Given the description of an element on the screen output the (x, y) to click on. 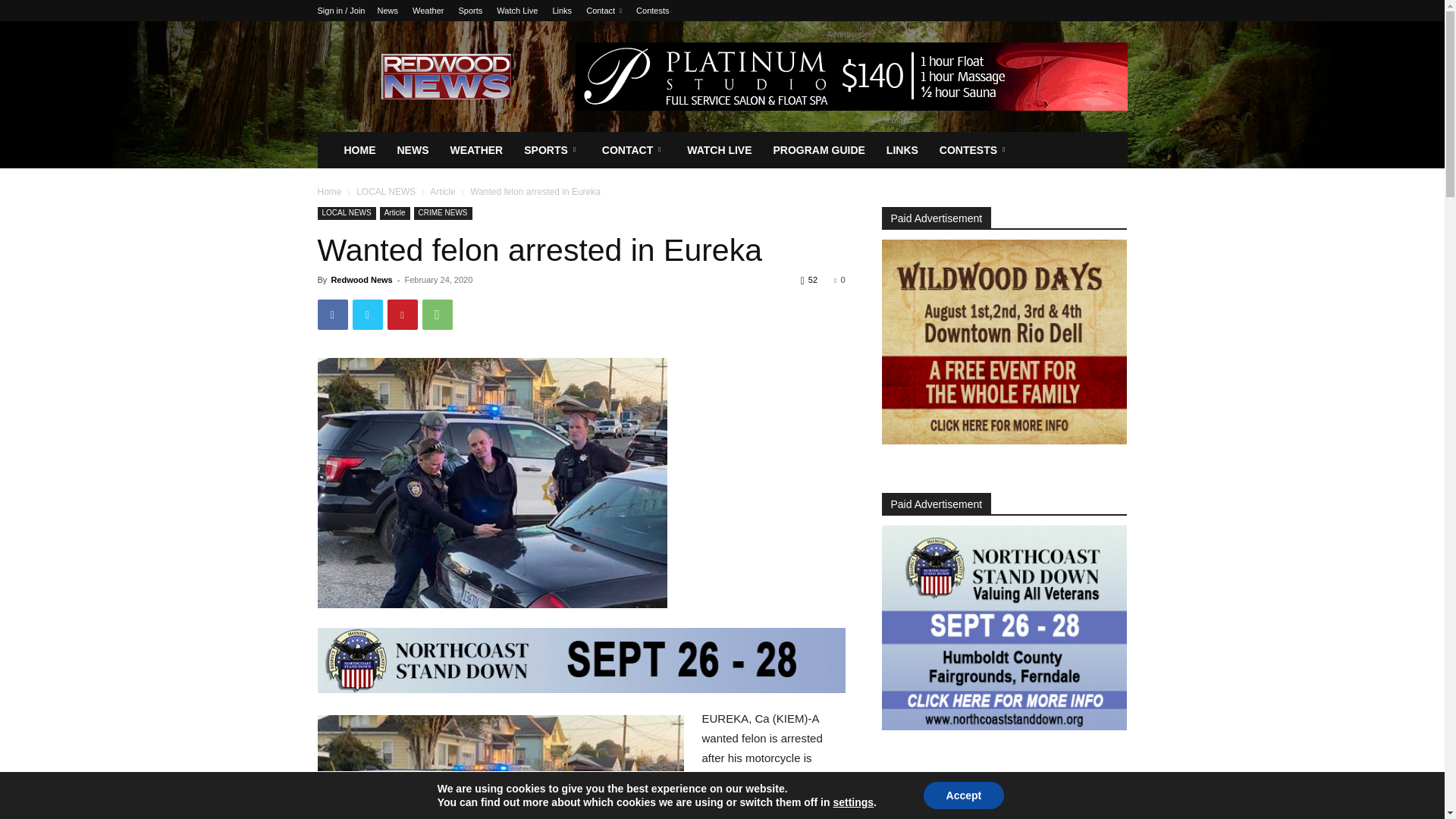
Watch Live (516, 10)
View all posts in LOCAL NEWS (385, 191)
Contests (652, 10)
Sports (469, 10)
WhatsApp (436, 314)
HABER (491, 482)
Weather (428, 10)
Twitter (366, 314)
Pinterest (401, 314)
Facebook (332, 314)
View all posts in Article (441, 191)
Contact (603, 10)
Links (561, 10)
